Given the description of an element on the screen output the (x, y) to click on. 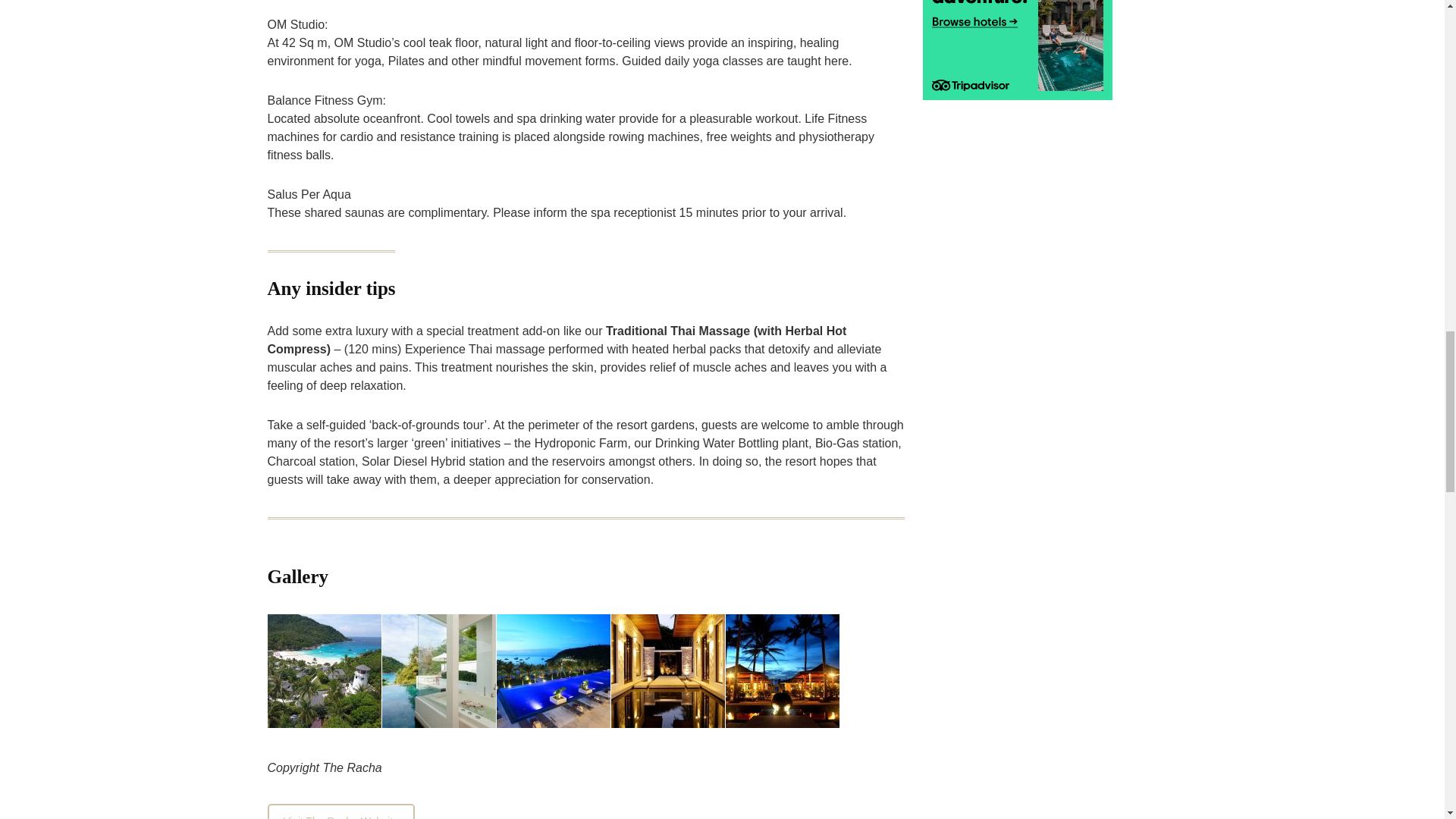
Visit The Racha Website (340, 811)
Visit The Racha Website (340, 811)
